Given the description of an element on the screen output the (x, y) to click on. 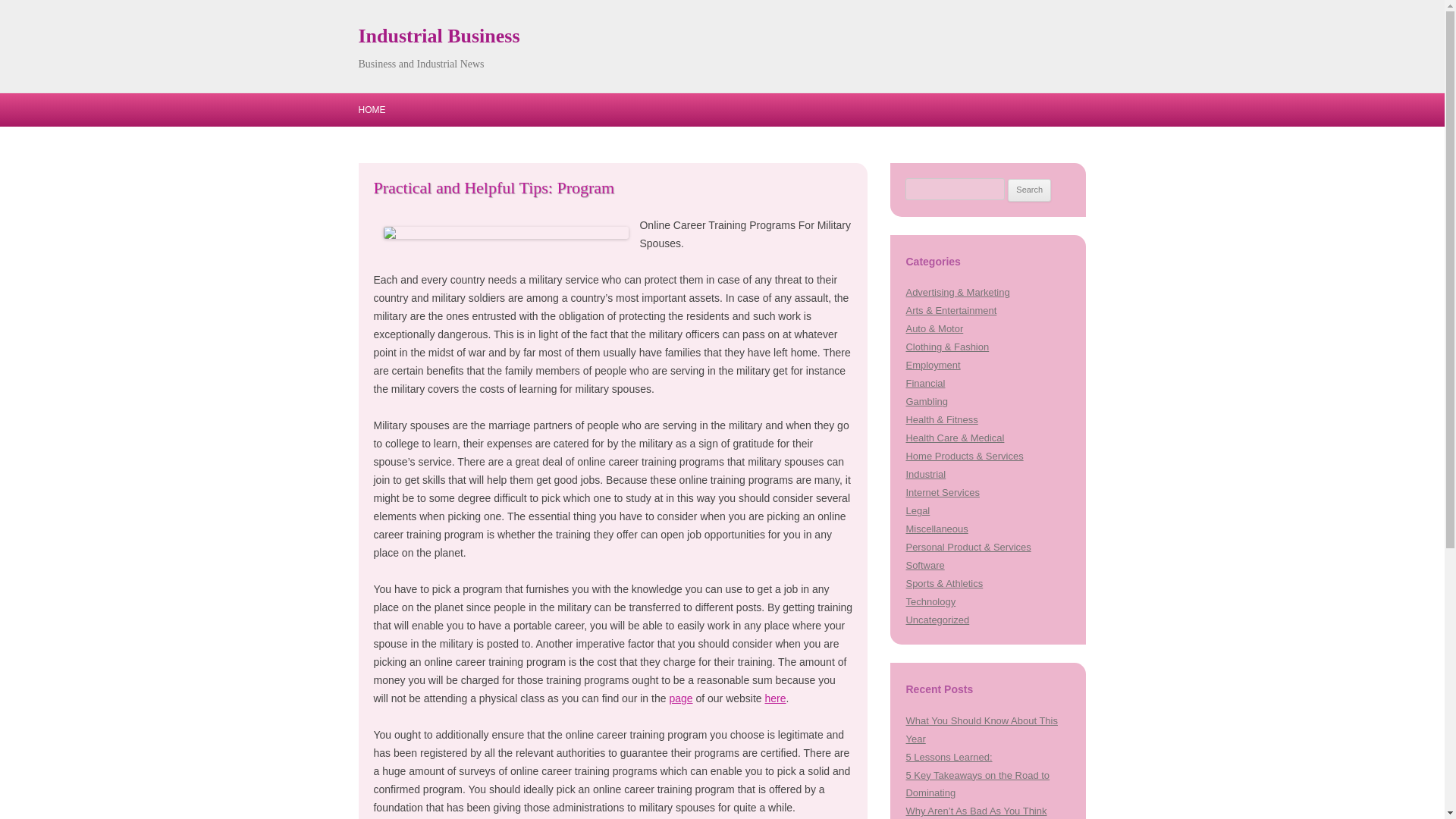
Search (1029, 190)
Miscellaneous (936, 528)
What You Should Know About This Year (981, 729)
here (775, 698)
Software (924, 564)
5 Lessons Learned: (948, 756)
Technology (930, 601)
Legal (917, 510)
5 Key Takeaways on the Road to Dominating (977, 783)
page (680, 698)
Employment (932, 365)
Financial (924, 383)
Industrial Business (438, 36)
Industrial Business (438, 36)
